Given the description of an element on the screen output the (x, y) to click on. 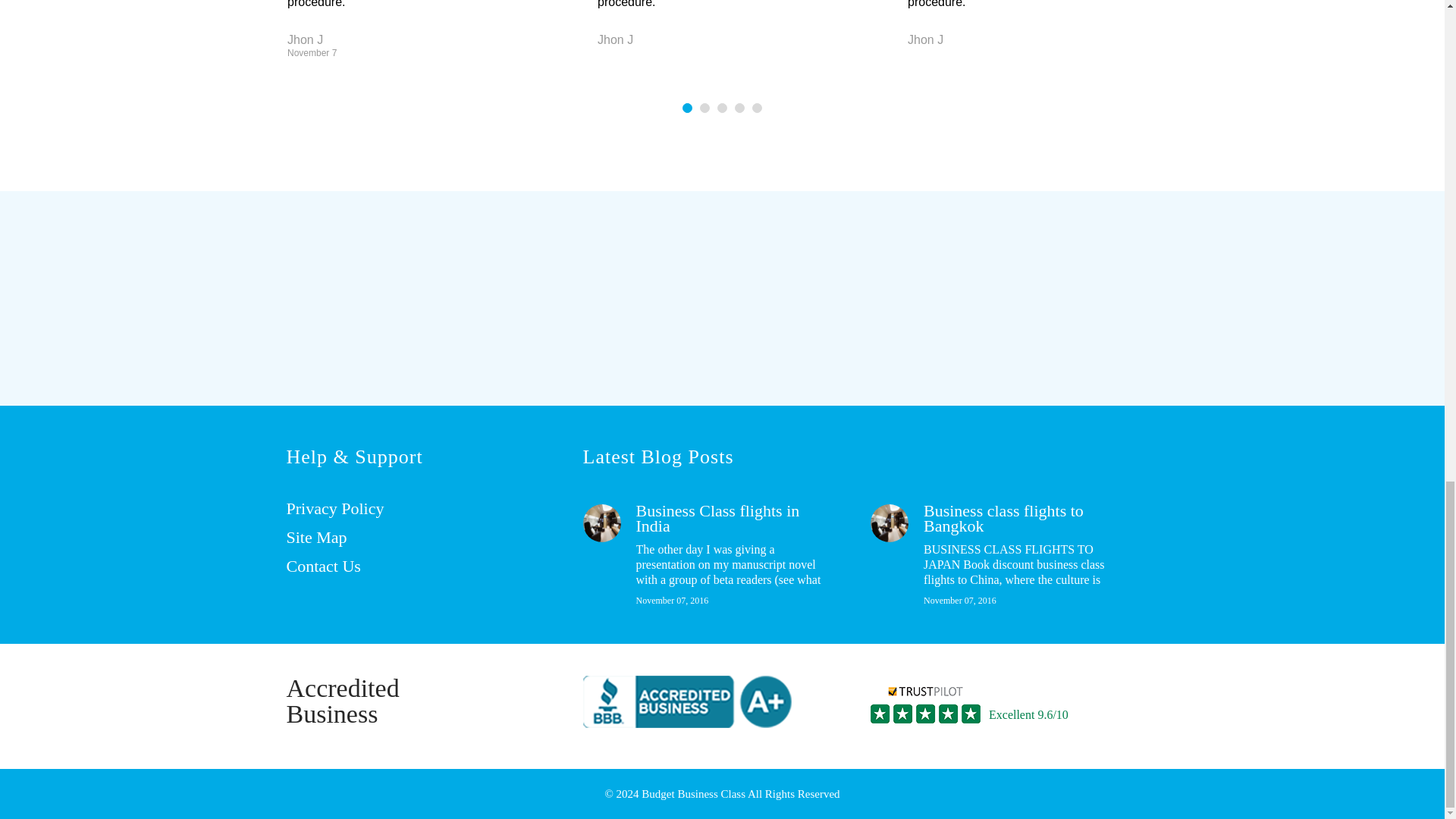
Business Class flights in India (716, 518)
4 (739, 108)
Privacy Policy (335, 507)
2 (705, 108)
1 (687, 108)
5 (756, 108)
Contact Us (323, 565)
Site Map (316, 537)
3 (721, 108)
Business class flights to Bangkok (1003, 518)
